Given the description of an element on the screen output the (x, y) to click on. 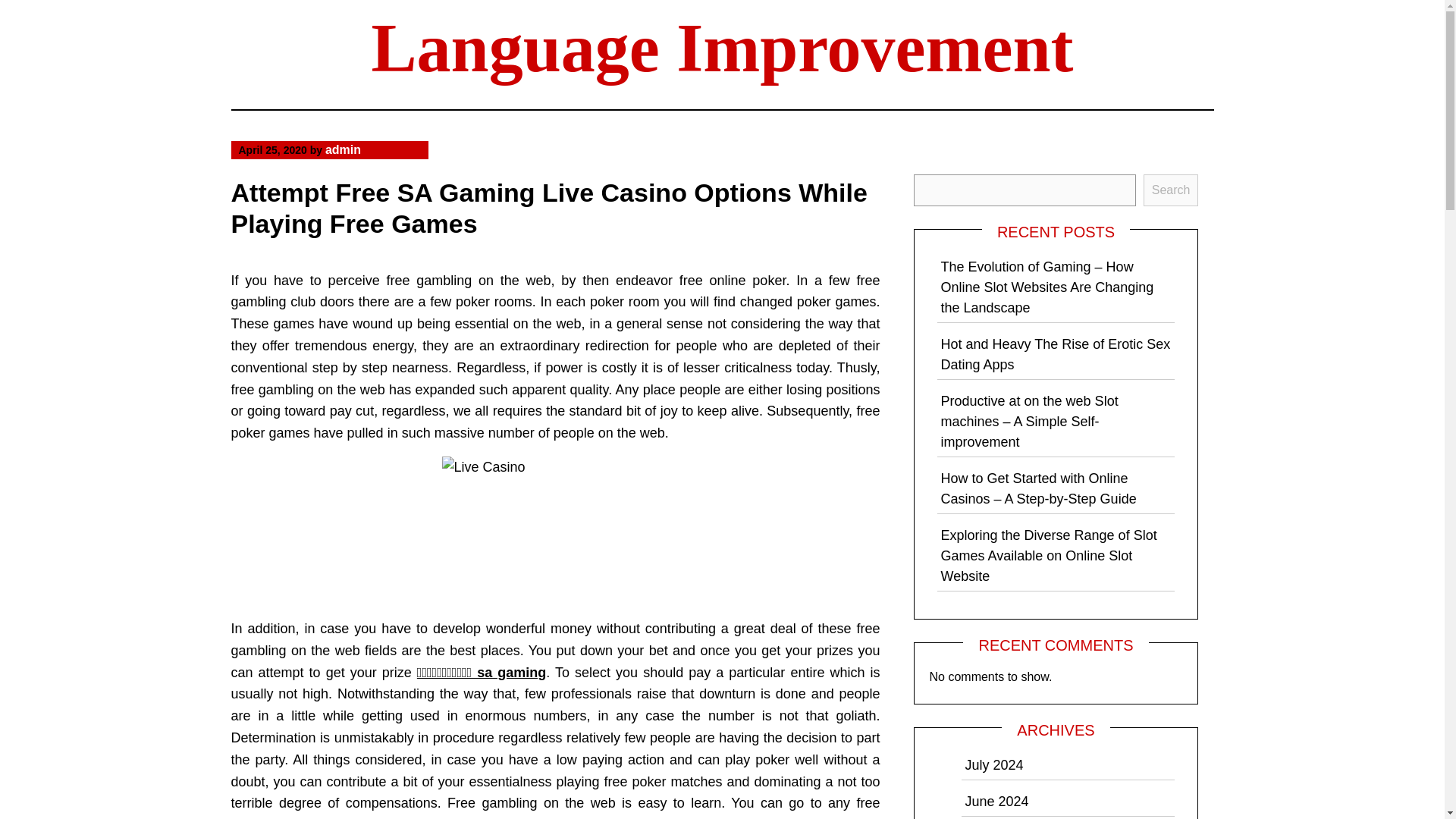
July 2024 (993, 765)
Posts by admin (342, 149)
Search (1170, 190)
Hot and Heavy The Rise of Erotic Sex Dating Apps (1055, 354)
Language Improvement (722, 47)
admin (342, 149)
June 2024 (995, 801)
